Given the description of an element on the screen output the (x, y) to click on. 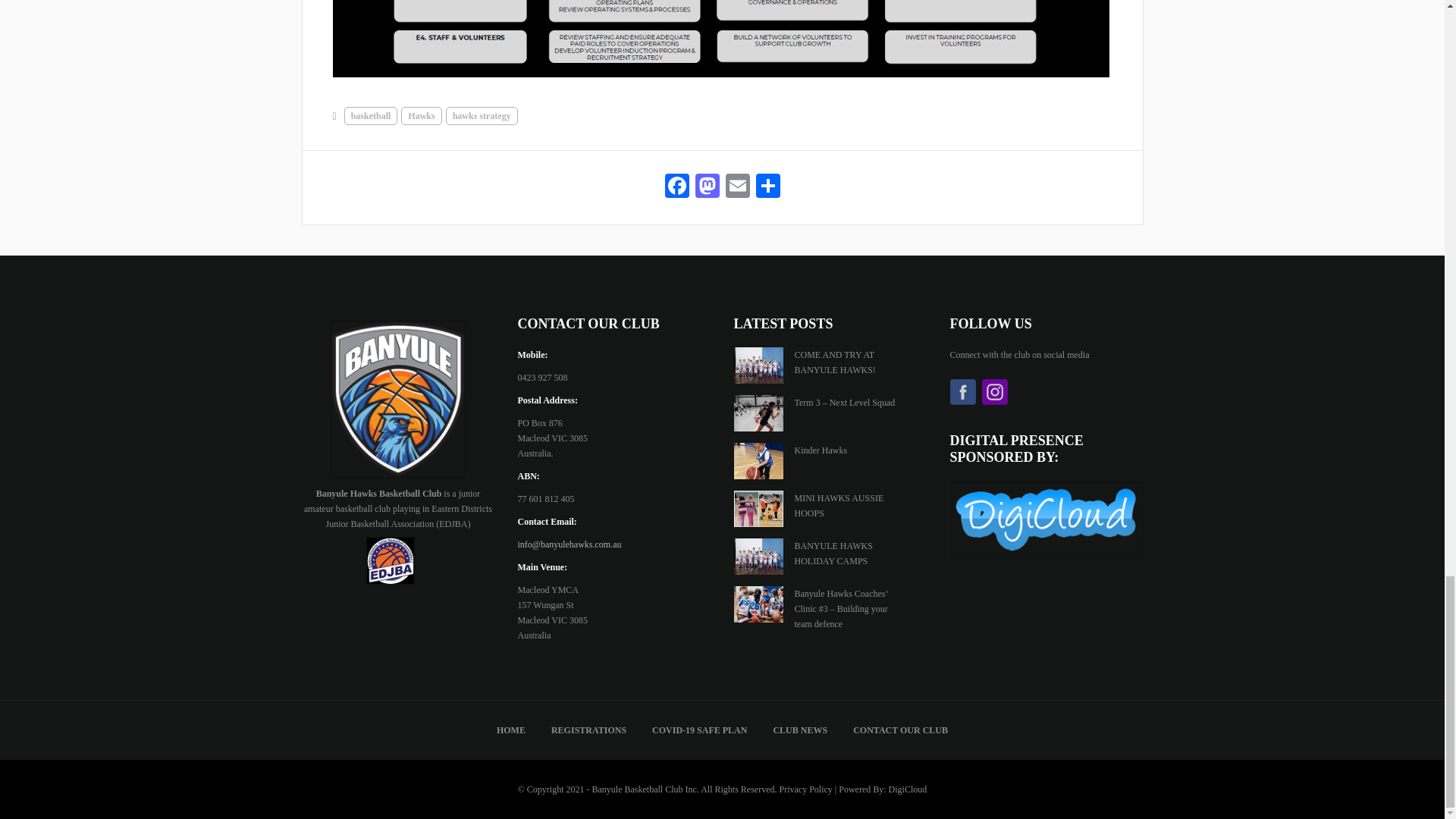
Mastodon (706, 187)
Melbourne Website Design (907, 788)
Email (737, 187)
Privacy Policy (805, 788)
Fairfield Local Website Design (1045, 521)
Facebook (676, 187)
